Given the description of an element on the screen output the (x, y) to click on. 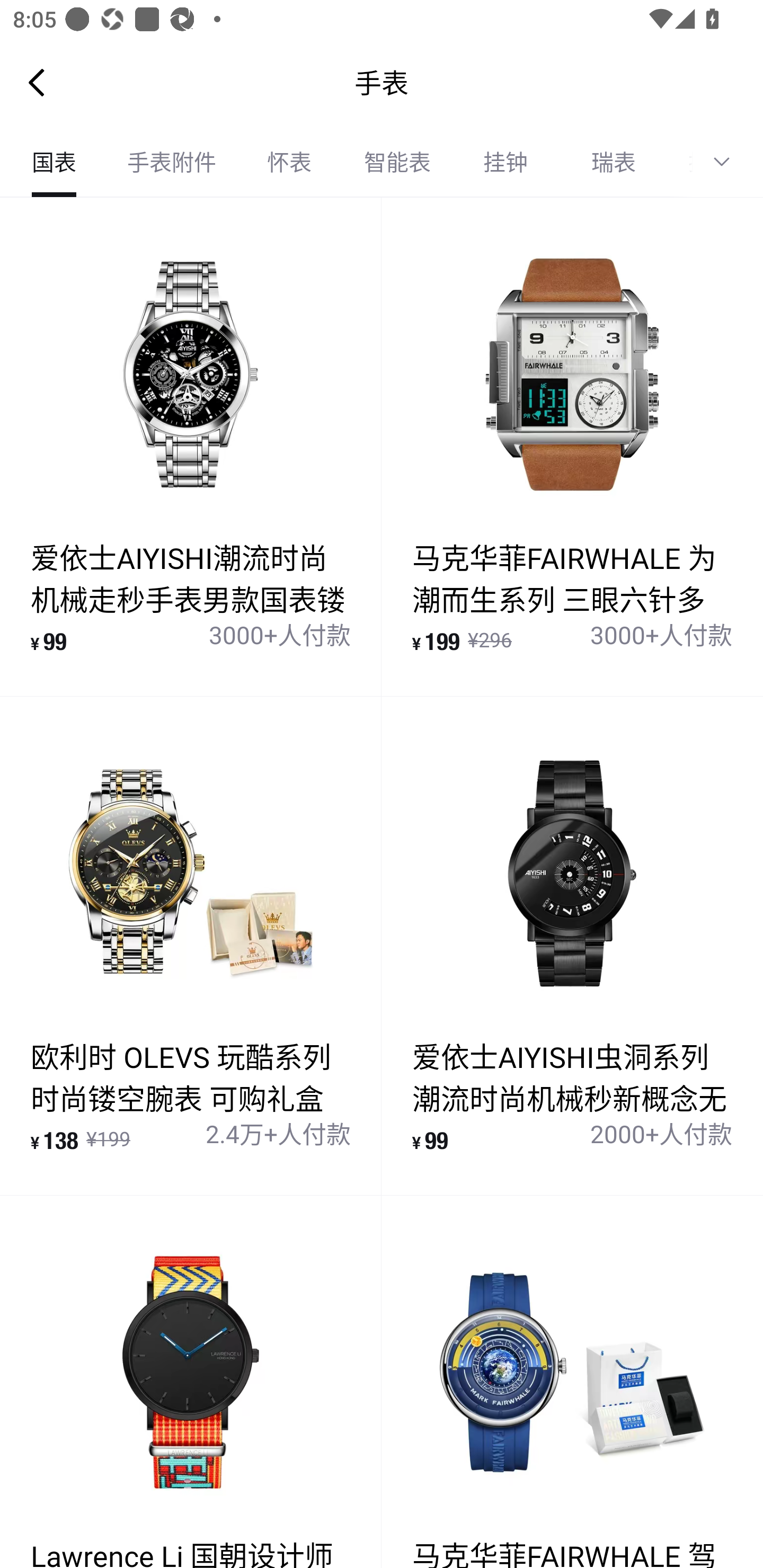
Navigate up (36, 82)
国表 (54, 162)
手表附件 (171, 162)
怀表 (289, 162)
智能表 (397, 162)
挂钟 (505, 162)
瑞表 (613, 162)
 (727, 162)
Lawrence Li 国朝设计师
手表男年少有为潮流防水
情侣简约帆布上岸 1-UO7
B (190, 1381)
